Given the description of an element on the screen output the (x, y) to click on. 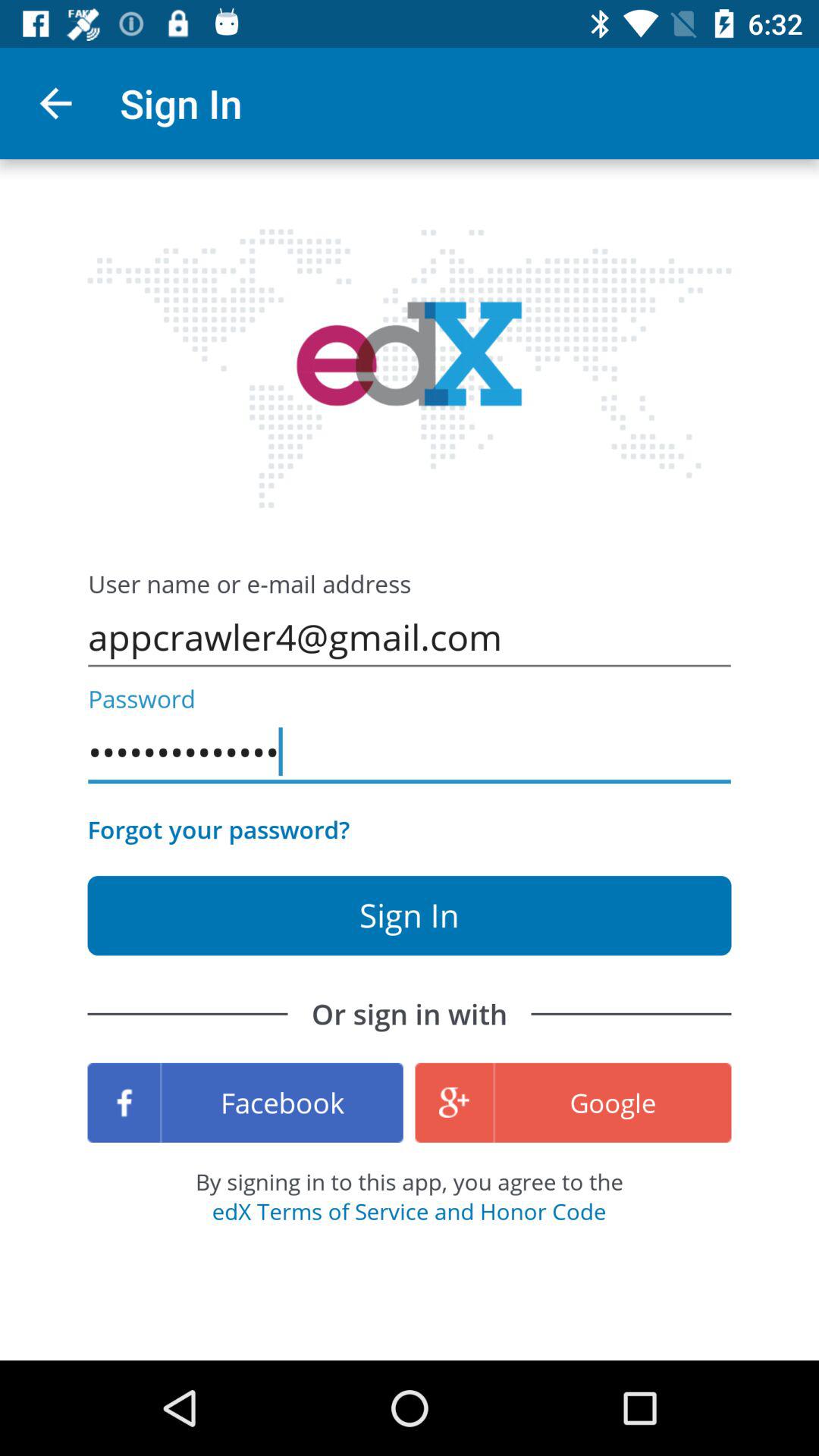
select icon below appcrawler4@gmail.com item (409, 752)
